Given the description of an element on the screen output the (x, y) to click on. 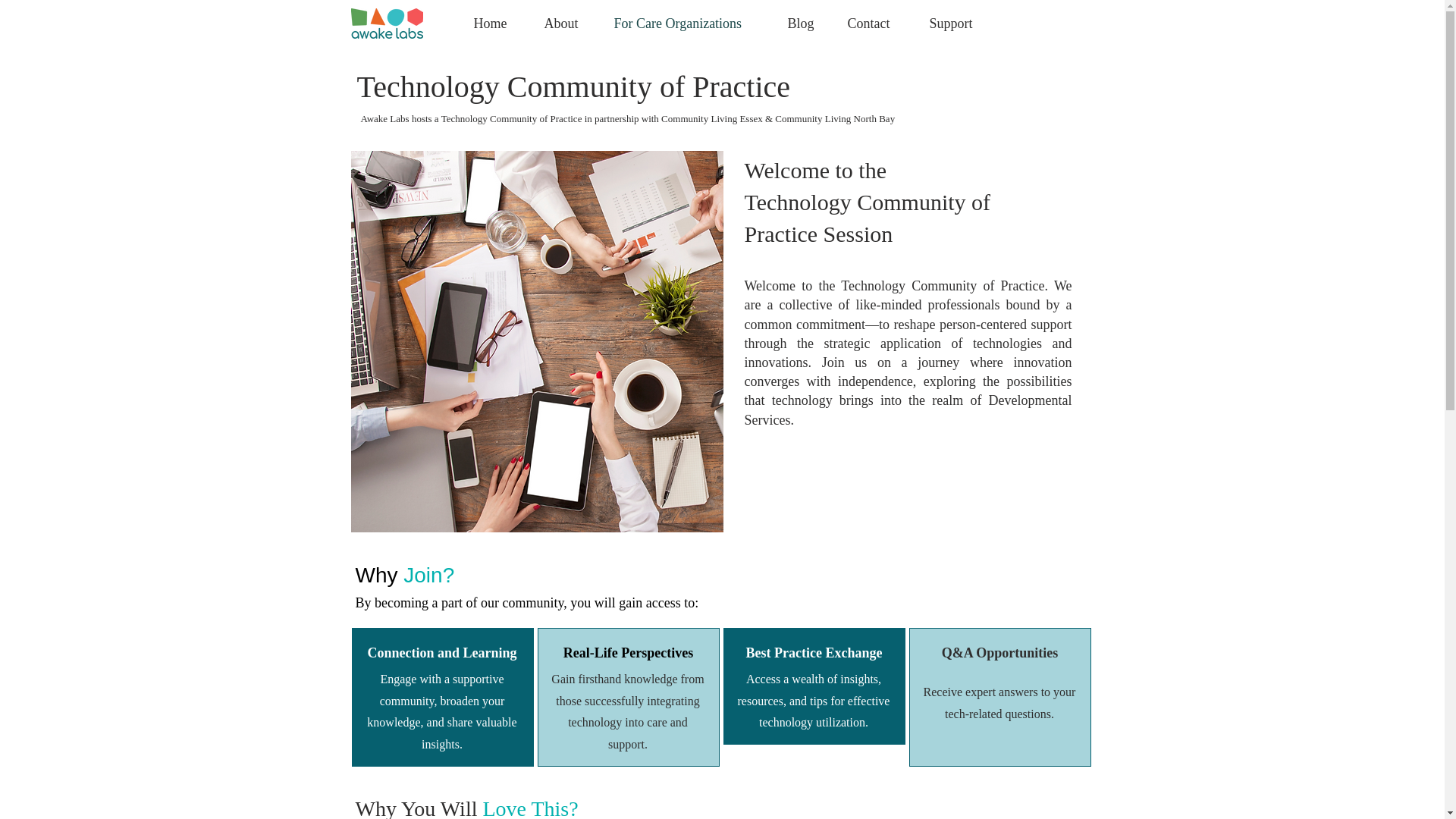
About (567, 23)
Blog (805, 23)
Support (957, 23)
For Care Organizations (689, 23)
Home (497, 23)
Contact (876, 23)
